Given the description of an element on the screen output the (x, y) to click on. 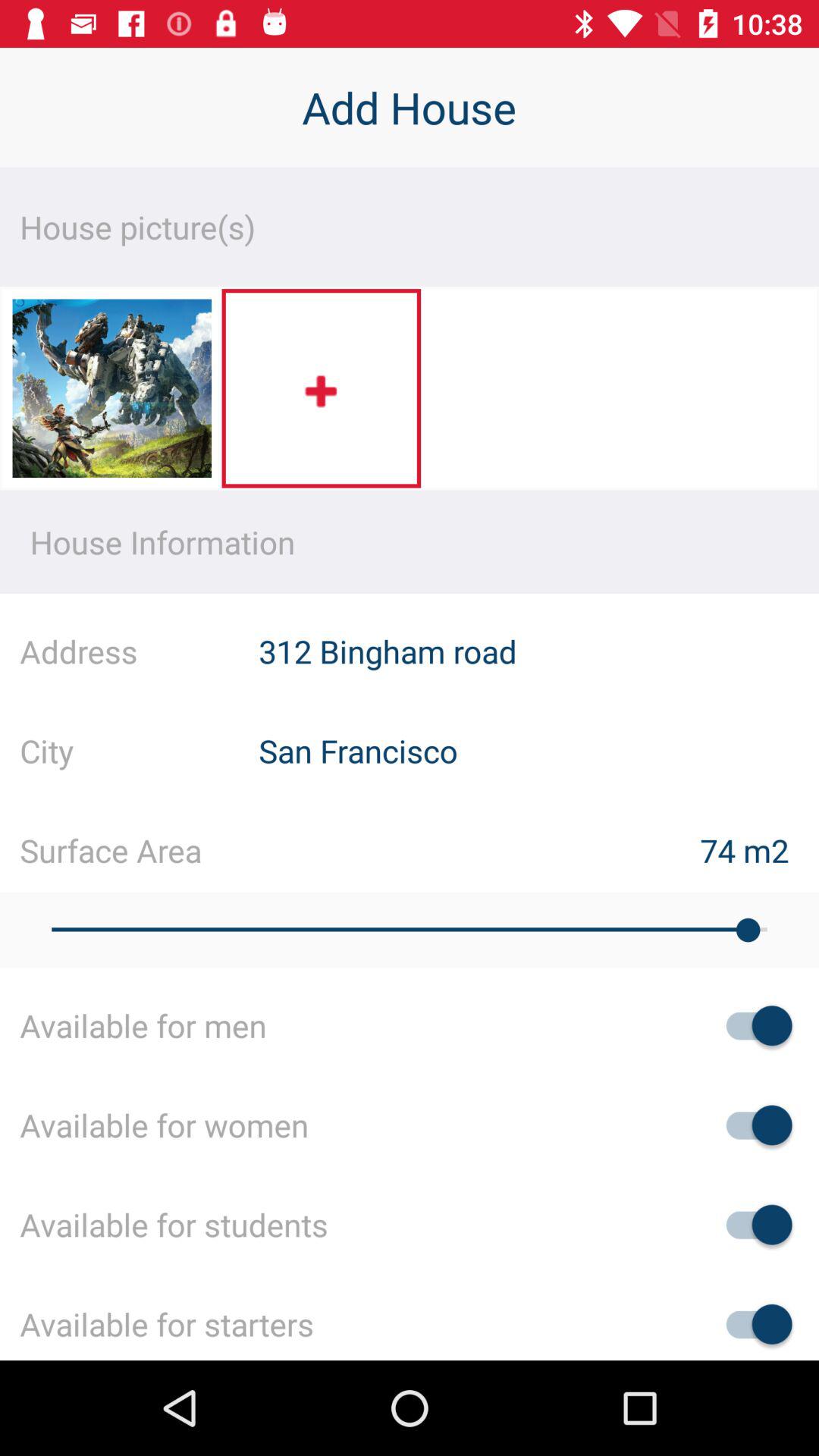
scroll until the 312 bingham road item (538, 650)
